Given the description of an element on the screen output the (x, y) to click on. 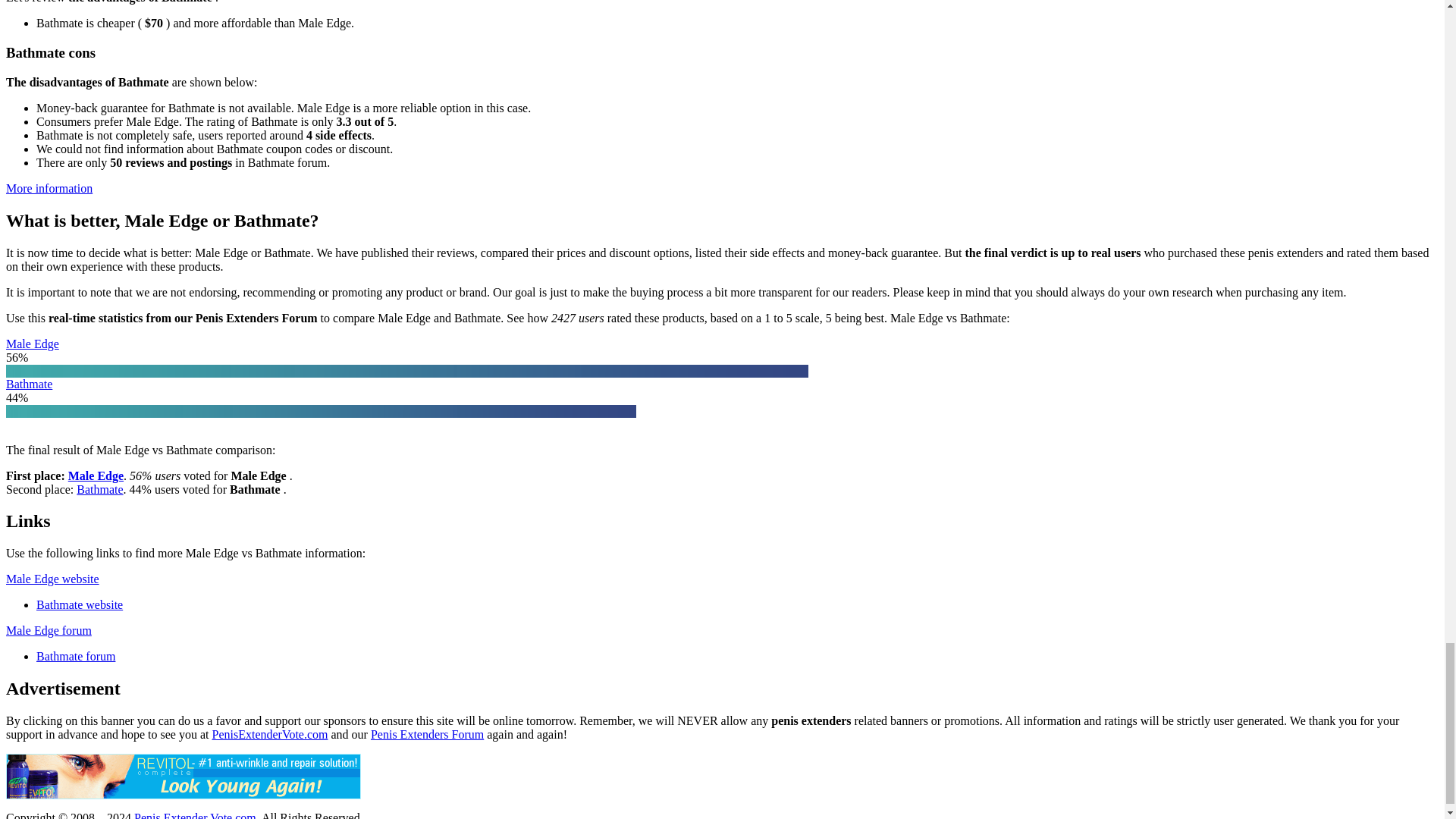
Male Edge forum (48, 630)
Male Edge (32, 343)
Male Edge website (52, 578)
More information (49, 187)
Bathmate website (79, 604)
Bathmate forum (75, 656)
Male Edge (95, 475)
Bathmate (28, 382)
Bathmate (99, 489)
